Given the description of an element on the screen output the (x, y) to click on. 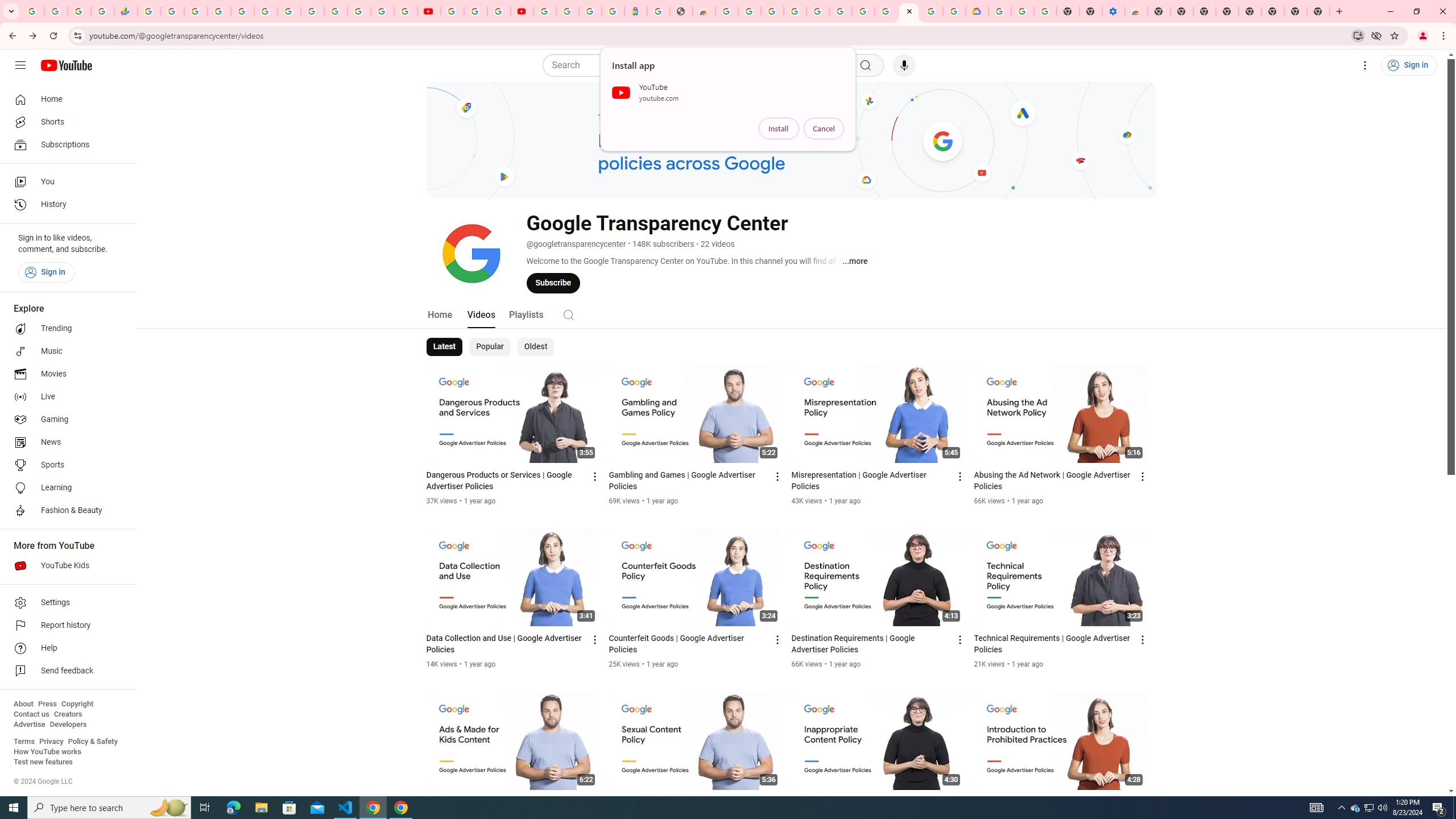
Create your Google Account (931, 11)
Install (778, 128)
Trending (64, 328)
YouTube (428, 11)
Chrome Web Store - Accessibility extensions (1136, 11)
Android TV Policies and Guidelines - Transparency Center (885, 11)
Fashion & Beauty (64, 510)
Press (46, 703)
